Given the description of an element on the screen output the (x, y) to click on. 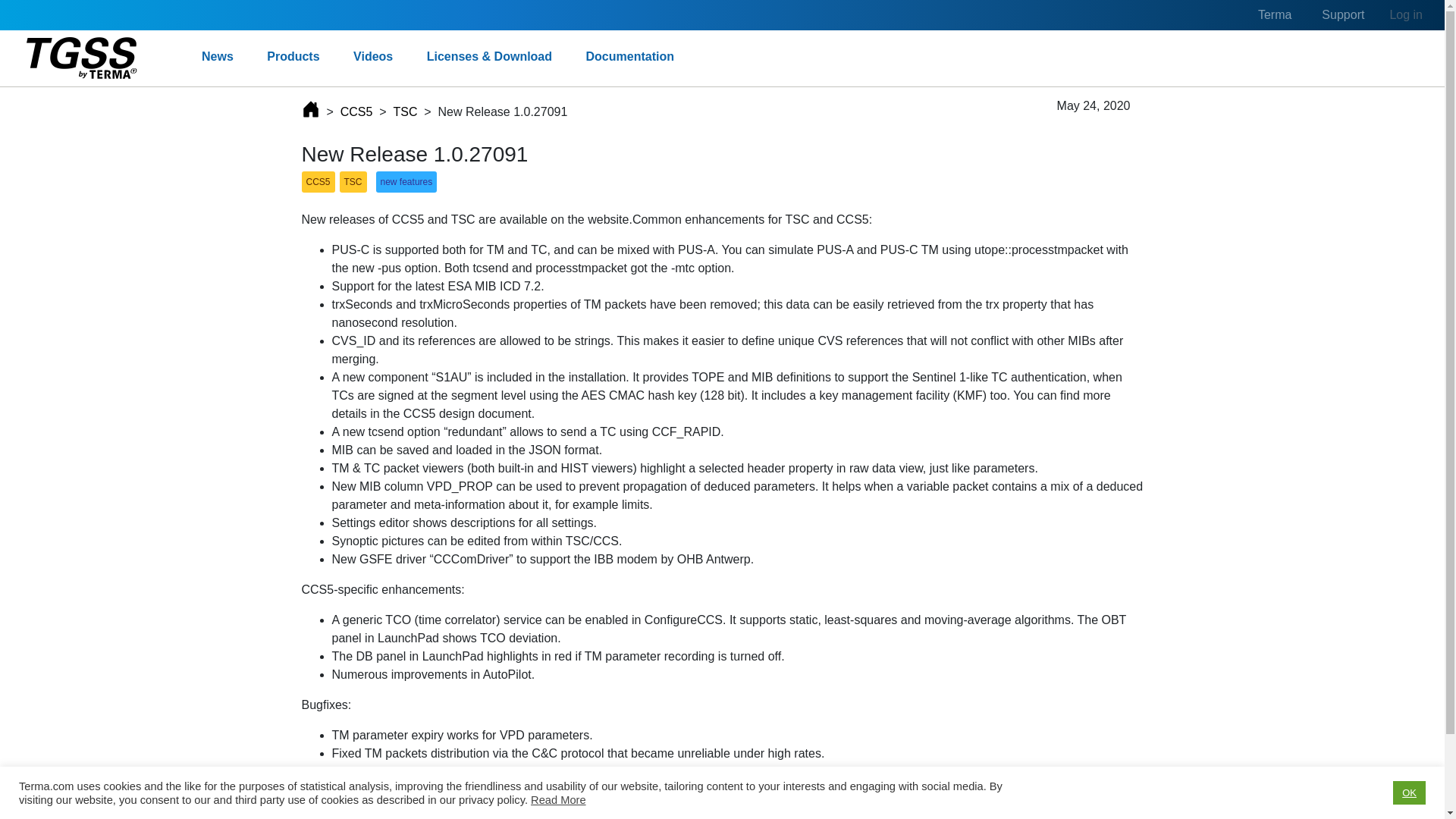
Support (1343, 15)
Videos (372, 56)
News (217, 56)
Documentation (629, 56)
Contact us (836, 797)
News (217, 56)
Videos (372, 56)
Documentation (629, 56)
Log in (1405, 14)
Terma (779, 797)
CCS5 (356, 112)
Products (292, 56)
Terma (1274, 15)
OK (1409, 792)
Read More (558, 799)
